Given the description of an element on the screen output the (x, y) to click on. 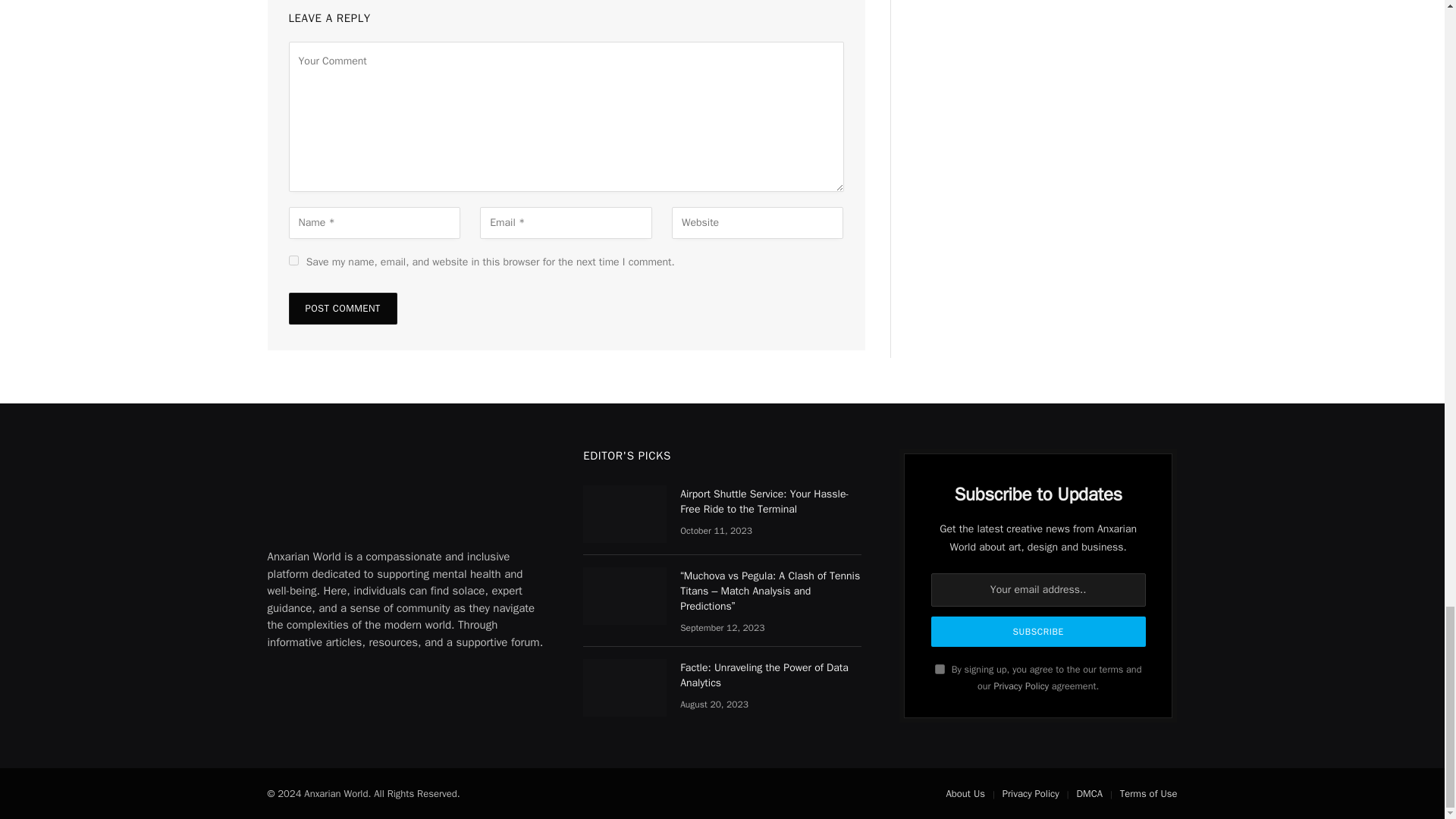
on (939, 669)
Subscribe (1038, 631)
yes (293, 260)
Post Comment (342, 308)
Post Comment (342, 308)
